Given the description of an element on the screen output the (x, y) to click on. 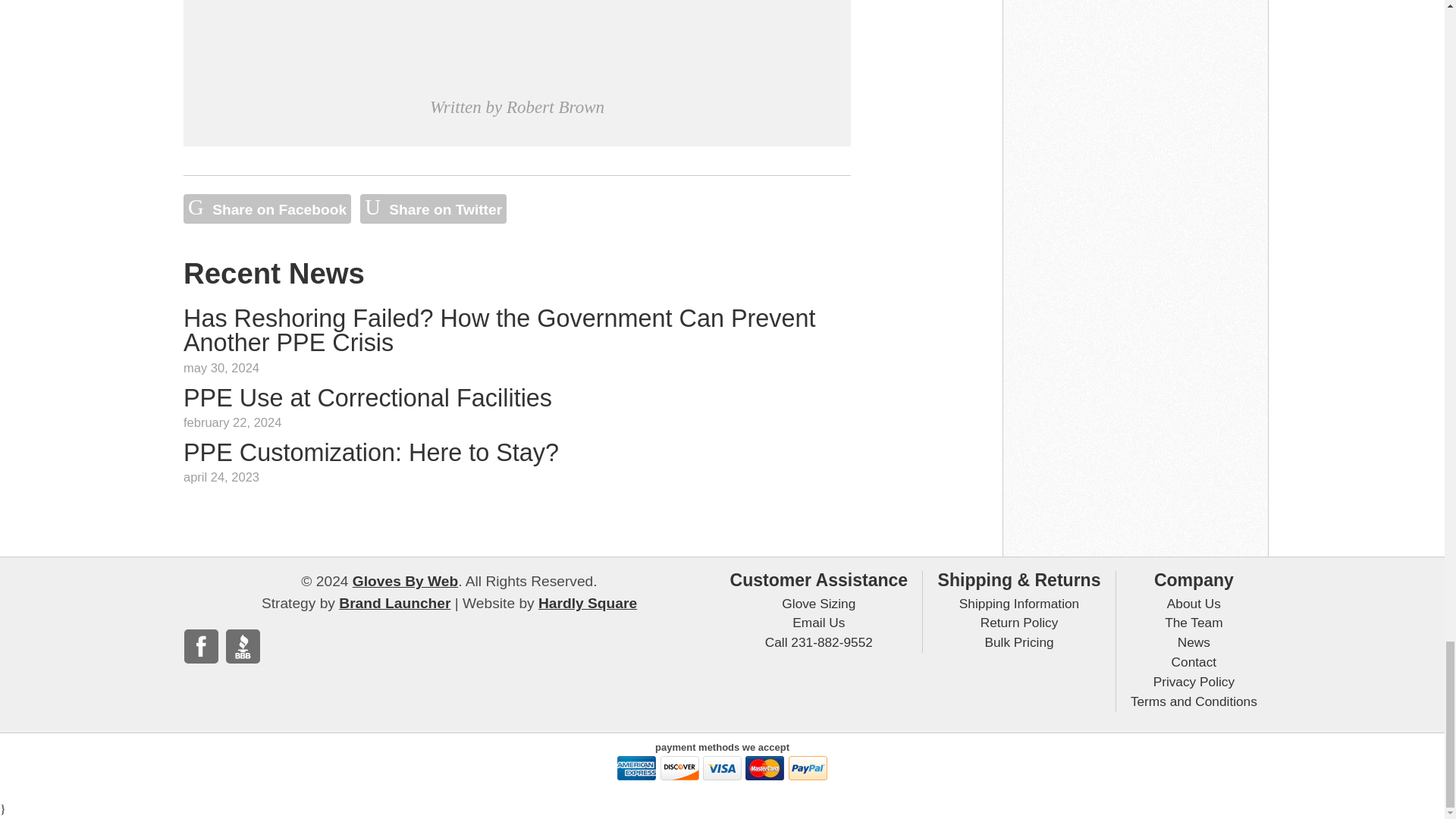
Share on Facebook (266, 208)
